Given the description of an element on the screen output the (x, y) to click on. 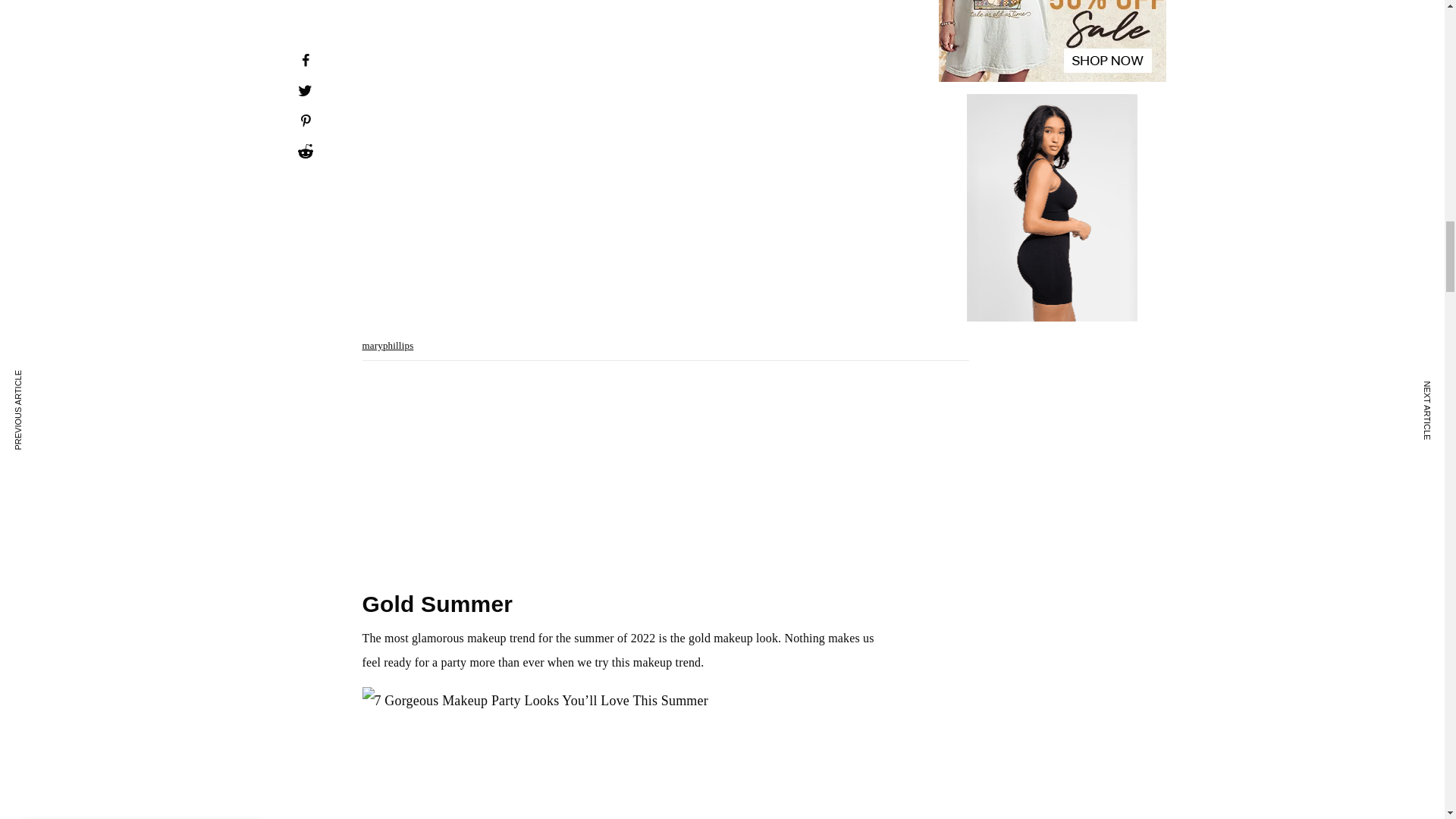
oversized shirt (1052, 40)
Waistdear (1052, 207)
Advertisement (623, 474)
